Given the description of an element on the screen output the (x, y) to click on. 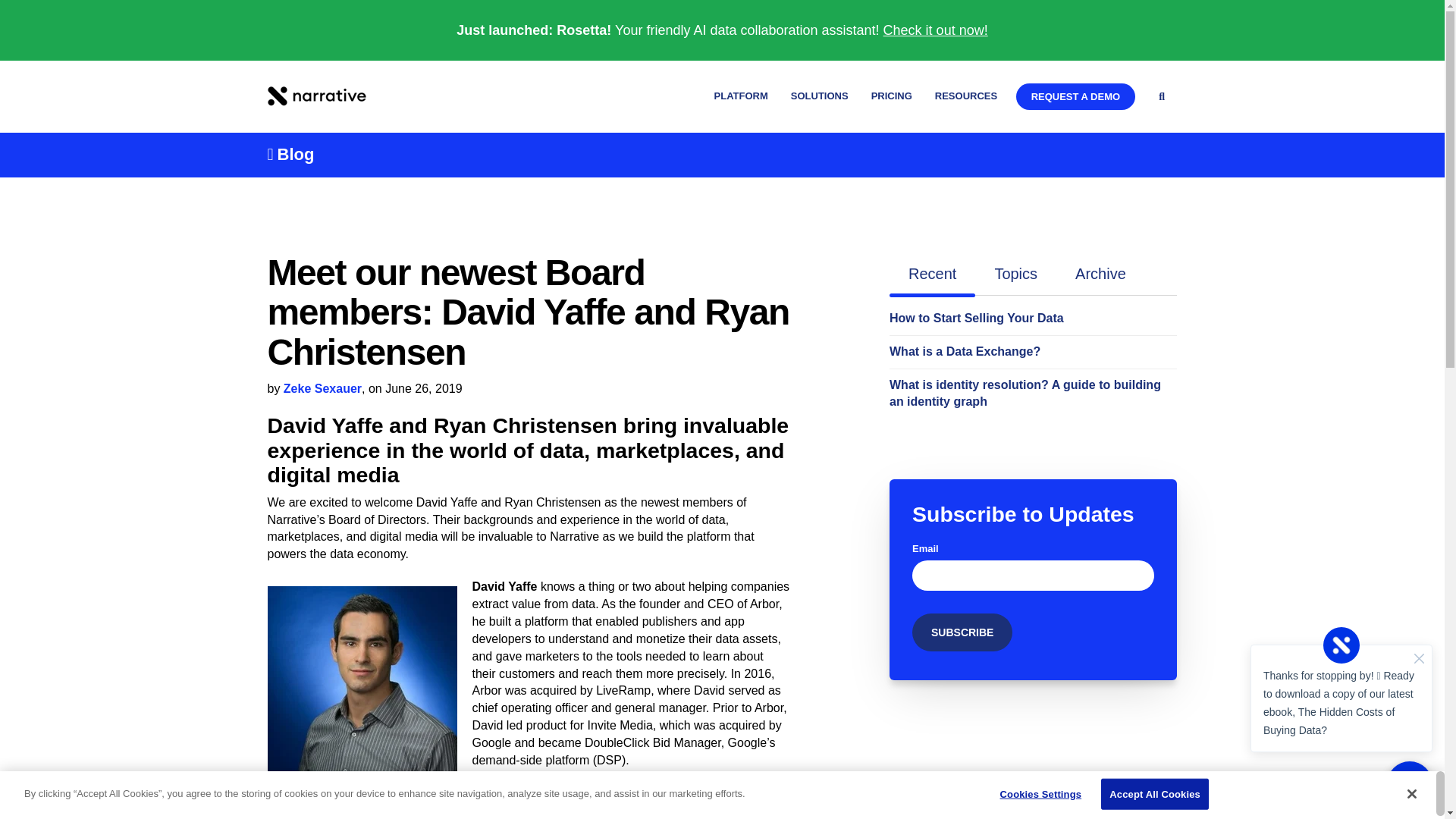
REQUEST A DEMO (1075, 96)
RESOURCES (965, 96)
Subscribe (961, 632)
Blog (290, 153)
Check it out now! (935, 29)
SOLUTIONS (819, 96)
PRICING (891, 96)
PLATFORM (741, 96)
Narrative logo (315, 96)
Recent (932, 274)
Zeke Sexauer (322, 388)
